Given the description of an element on the screen output the (x, y) to click on. 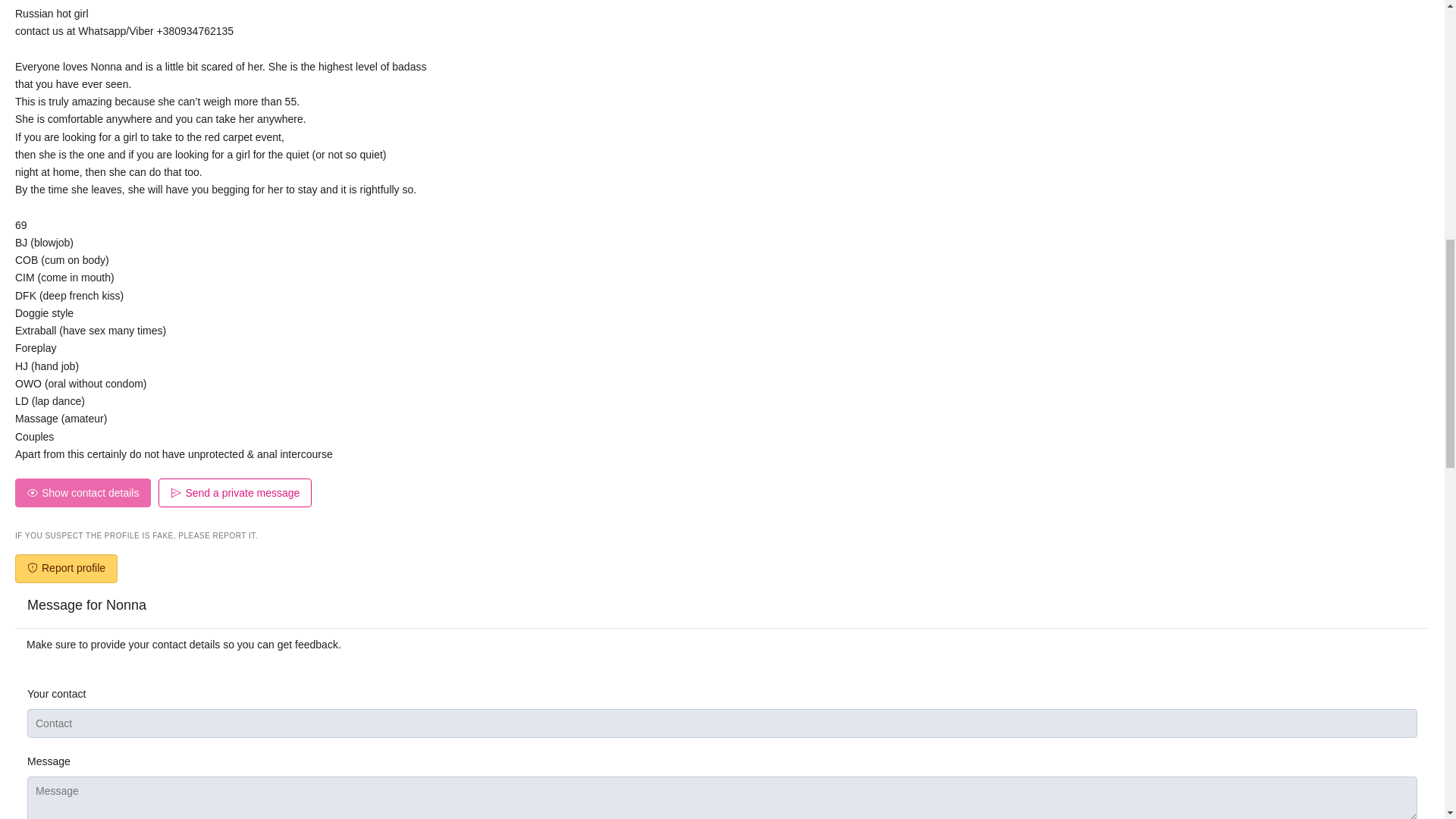
Send a private message (234, 492)
Report profile (65, 568)
Show contact details (82, 492)
